Given the description of an element on the screen output the (x, y) to click on. 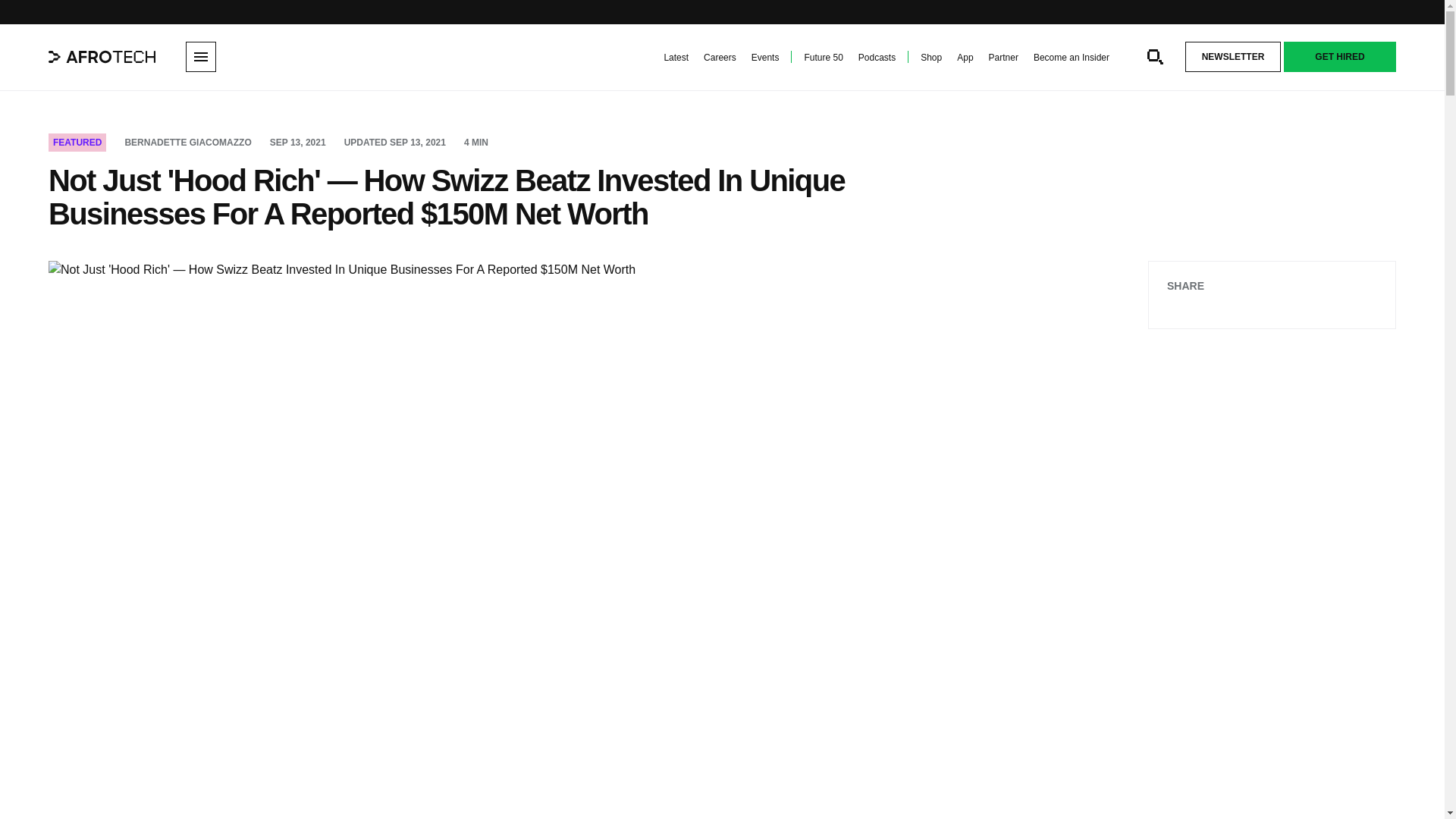
NEWSLETTER (1233, 56)
BERNADETTE GIACOMAZZO (186, 142)
App (964, 57)
Partner (1002, 57)
Events (764, 57)
Future 50 (823, 57)
Latest (675, 57)
GET HIRED (1340, 56)
FEATURED (77, 142)
Become an Insider (1071, 57)
